Given the description of an element on the screen output the (x, y) to click on. 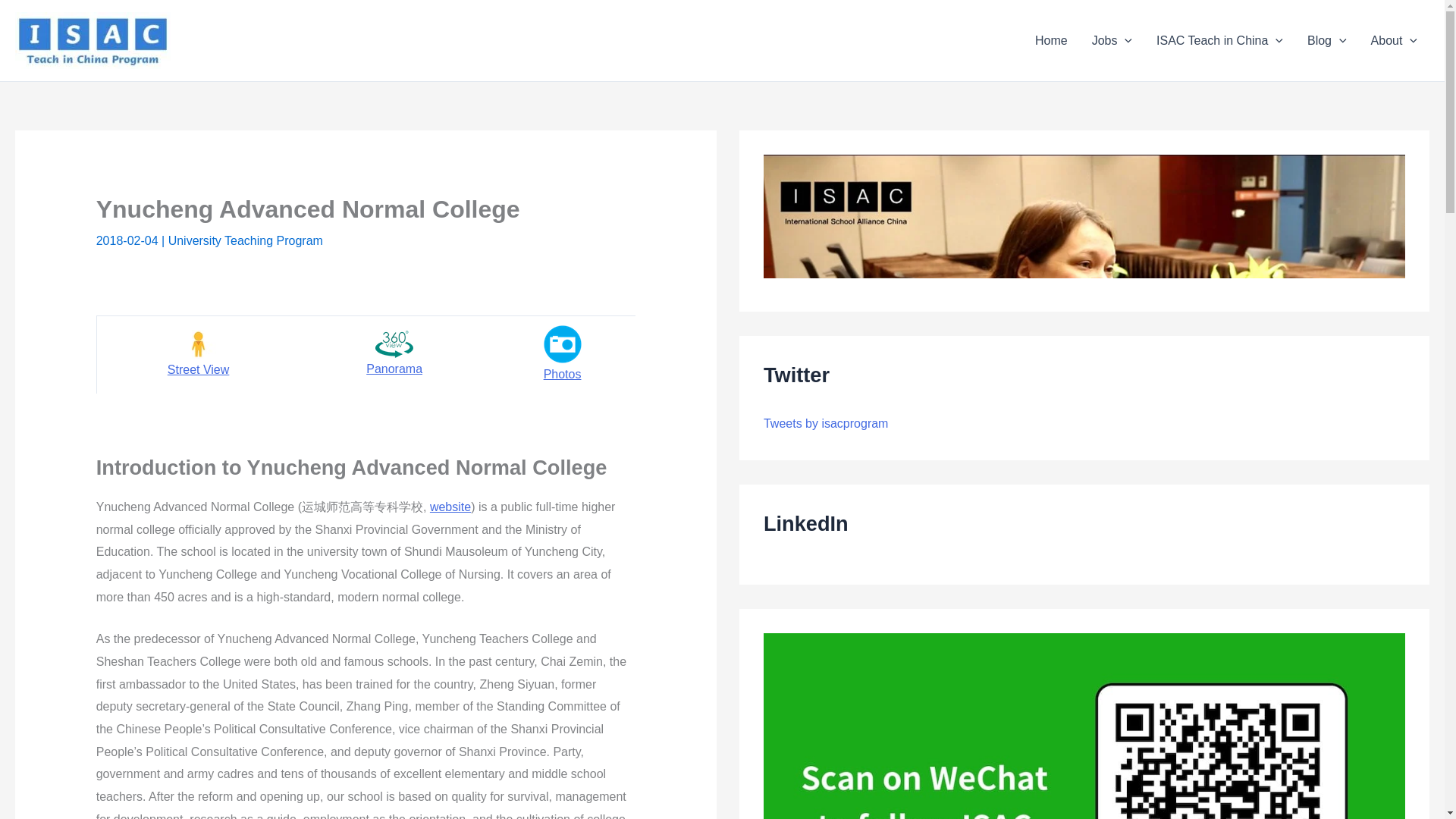
Home (1051, 40)
ISAC Teach in China (1219, 40)
Jobs (1112, 40)
Blog (1326, 40)
About (1393, 40)
